Given the description of an element on the screen output the (x, y) to click on. 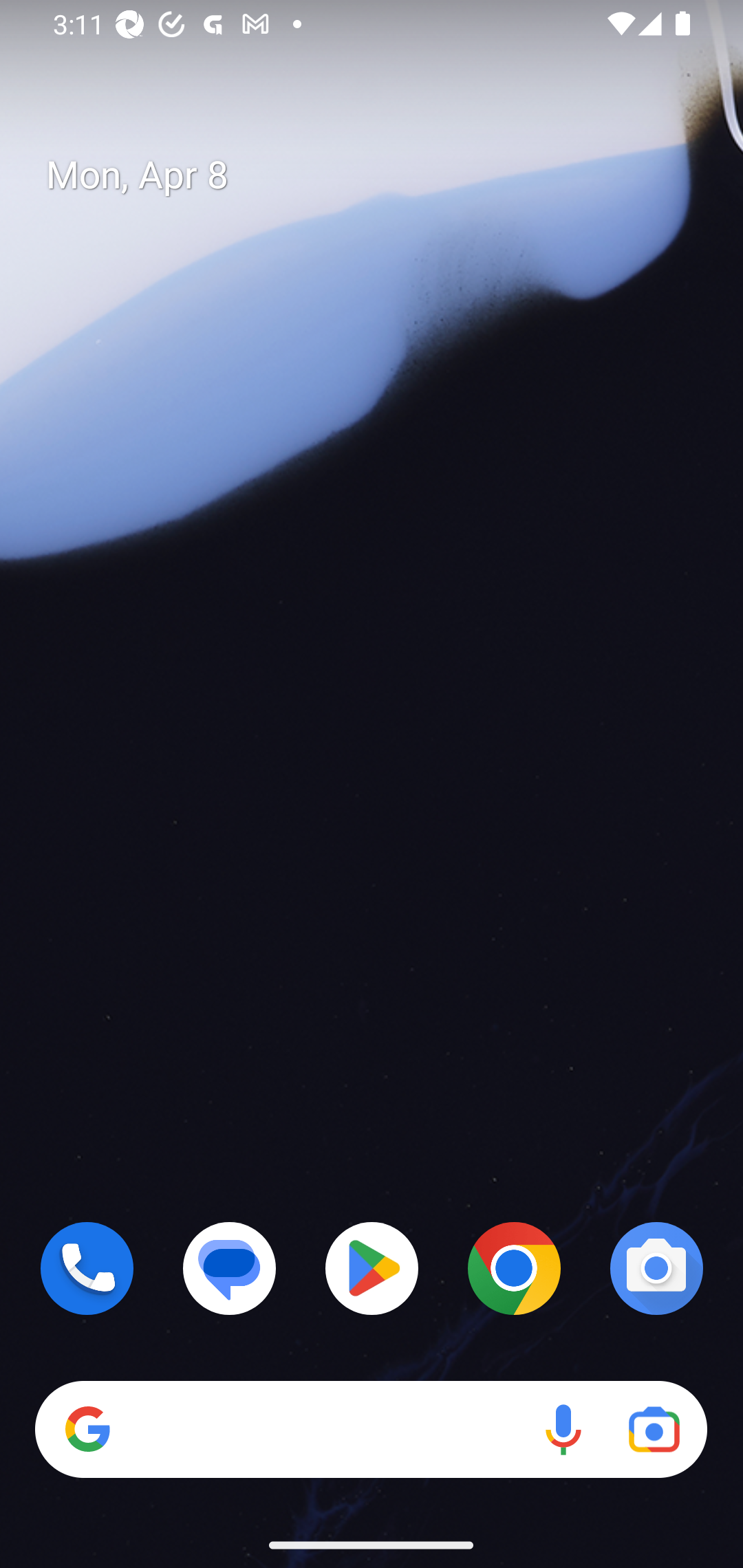
Mon, Apr 8 (386, 175)
Phone (86, 1268)
Messages (229, 1268)
Play Store (371, 1268)
Chrome (513, 1268)
Camera (656, 1268)
Search Voice search Google Lens (370, 1429)
Voice search (562, 1429)
Google Lens (653, 1429)
